Given the description of an element on the screen output the (x, y) to click on. 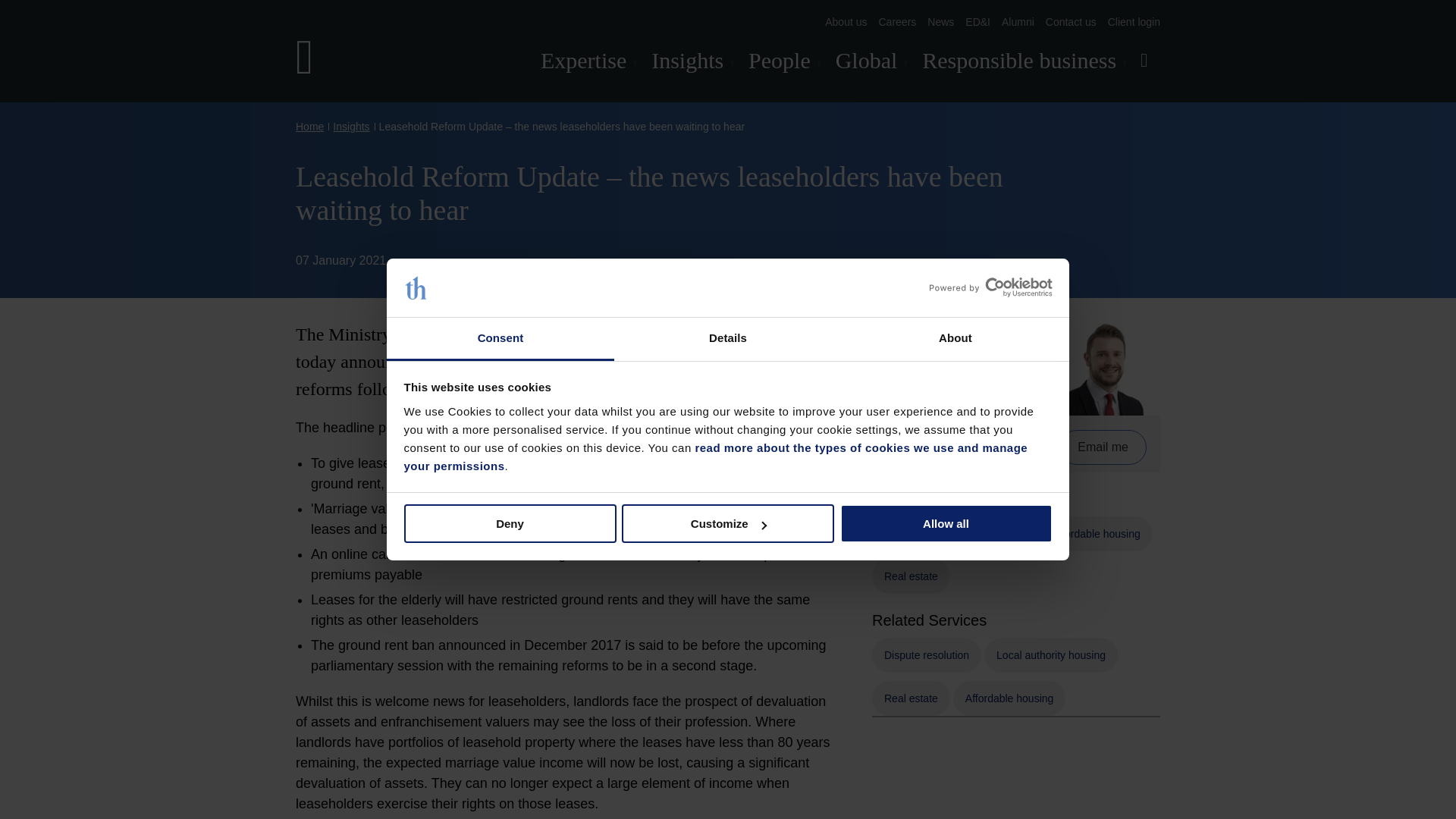
About (954, 339)
Details (727, 339)
Consent (500, 339)
